Given the description of an element on the screen output the (x, y) to click on. 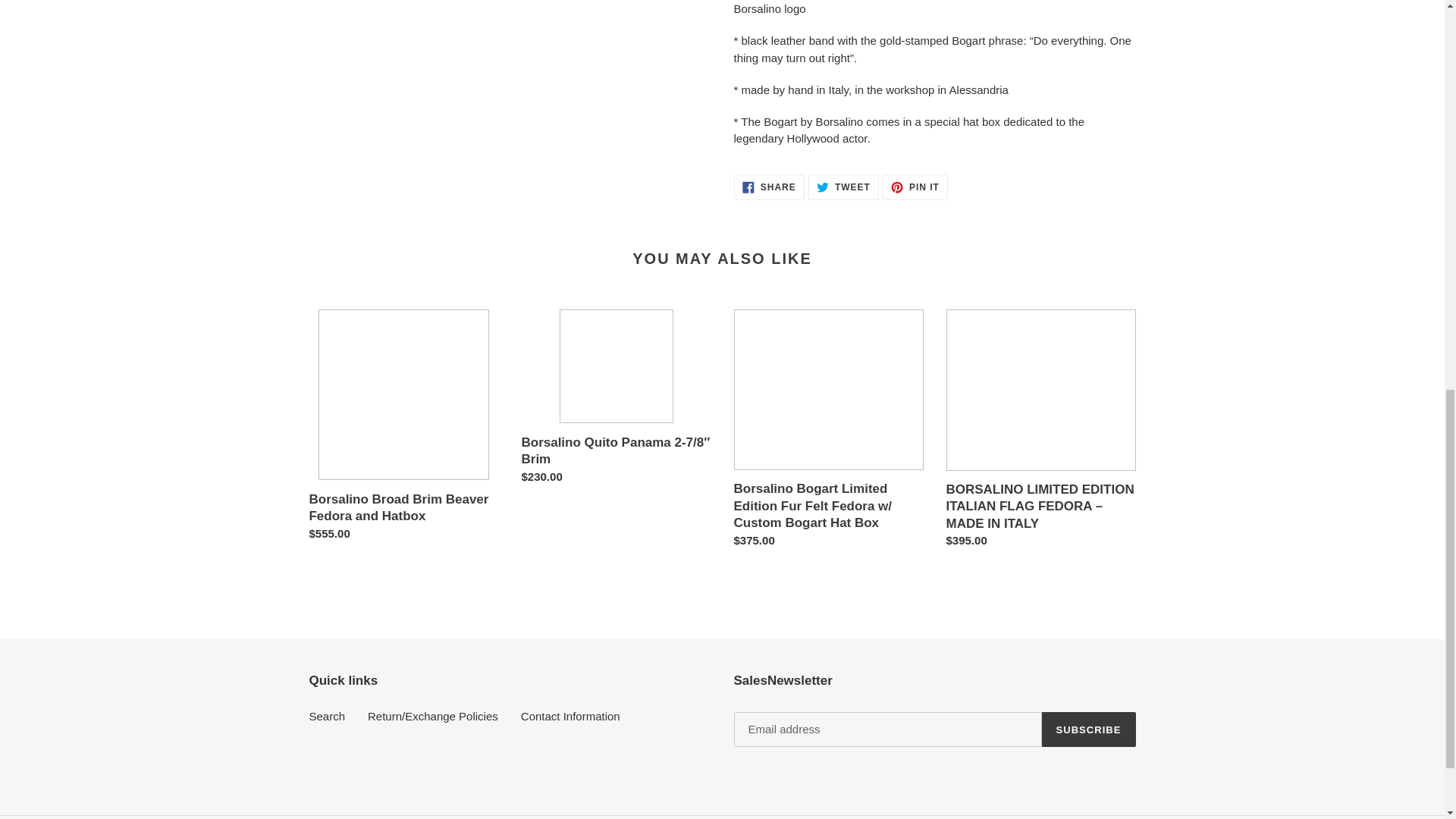
Contact Information (570, 716)
SUBSCRIBE (1088, 728)
Search (769, 186)
Borsalino Broad Brim Beaver Fedora and Hatbox (843, 186)
